Given the description of an element on the screen output the (x, y) to click on. 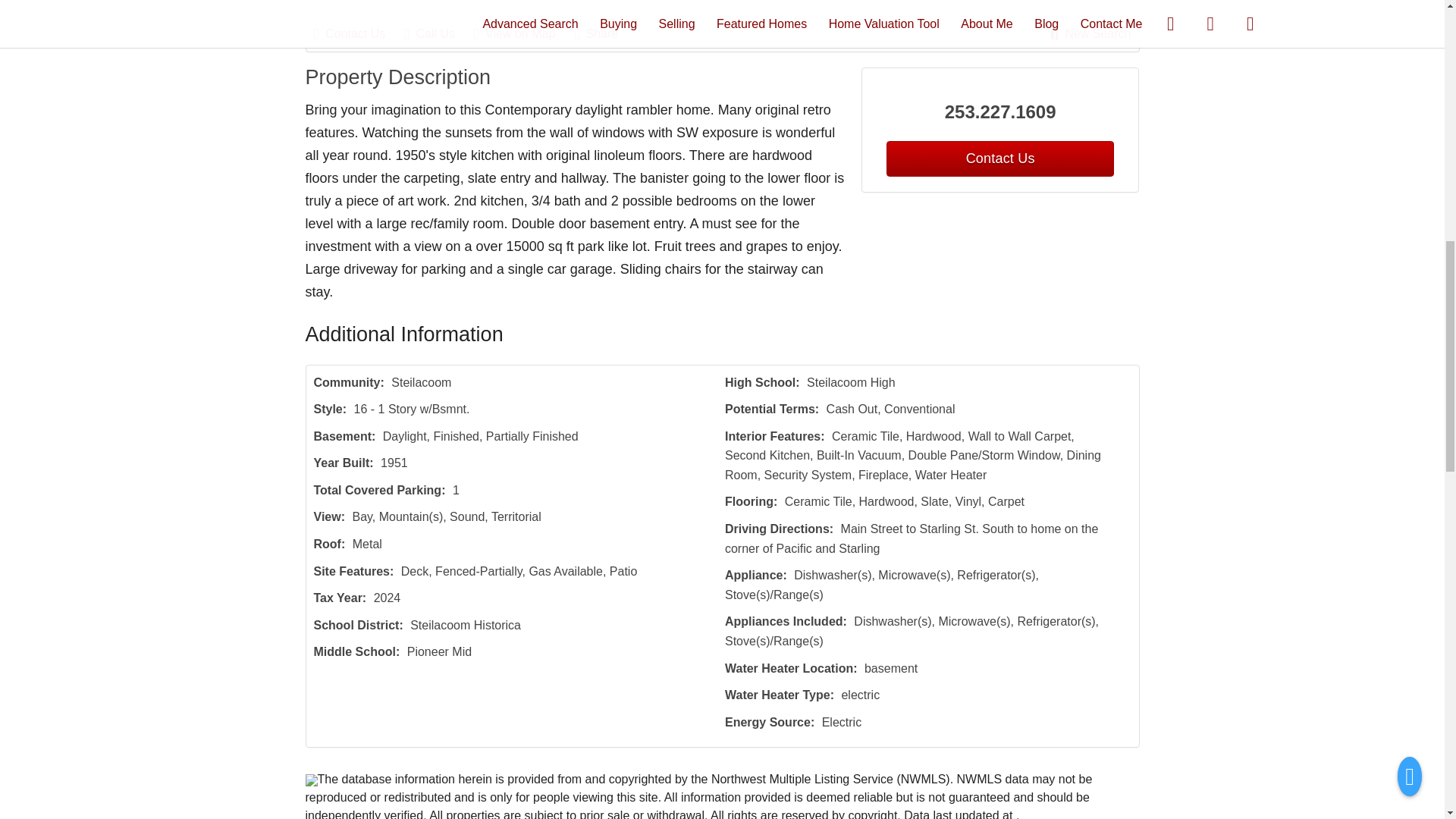
Share (603, 33)
Contact Us (357, 33)
View on Map (521, 33)
New Search (1090, 33)
253.227.1609 (1000, 112)
Call Us (437, 33)
